Given the description of an element on the screen output the (x, y) to click on. 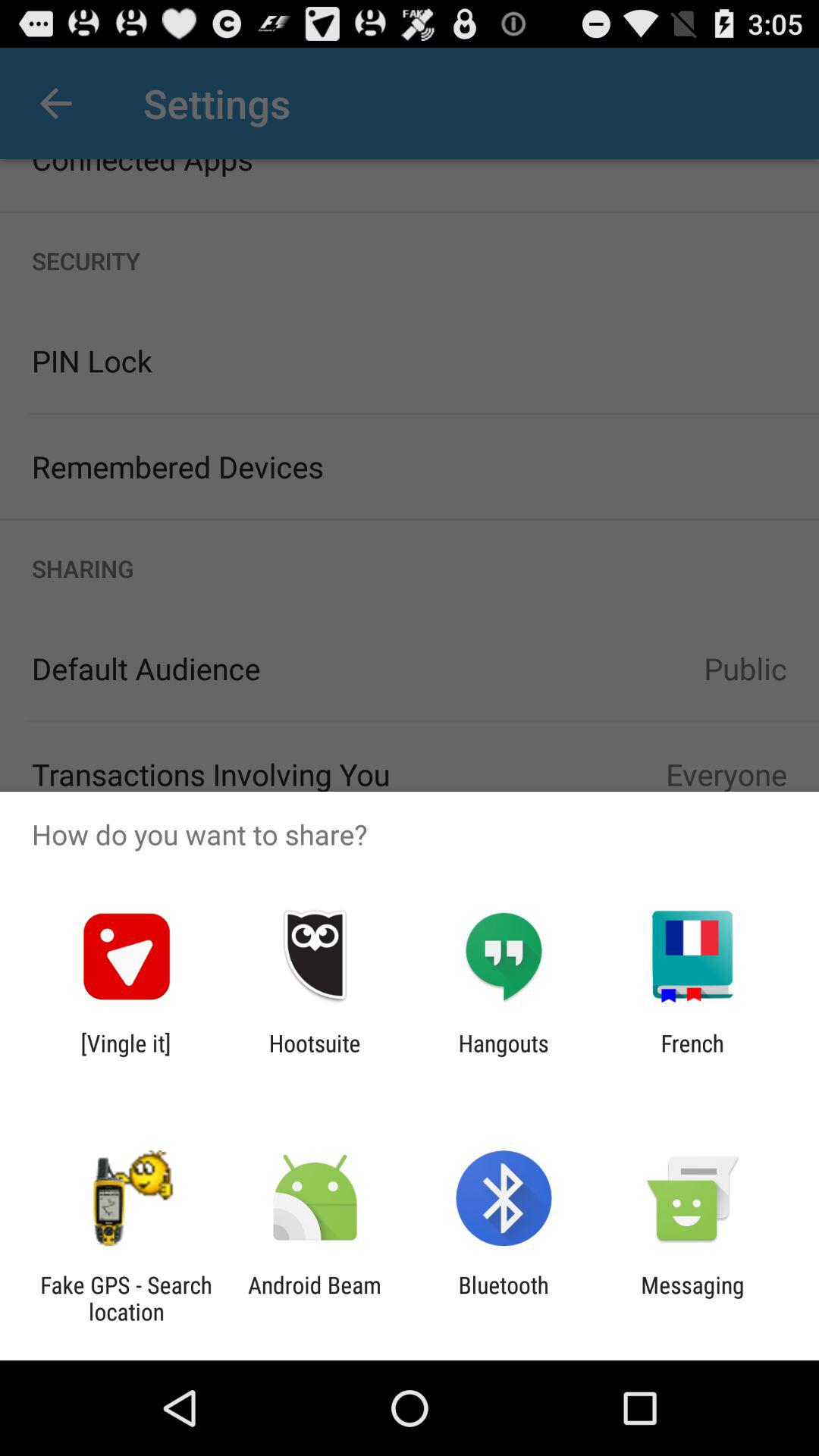
tap icon next to the french item (503, 1056)
